Given the description of an element on the screen output the (x, y) to click on. 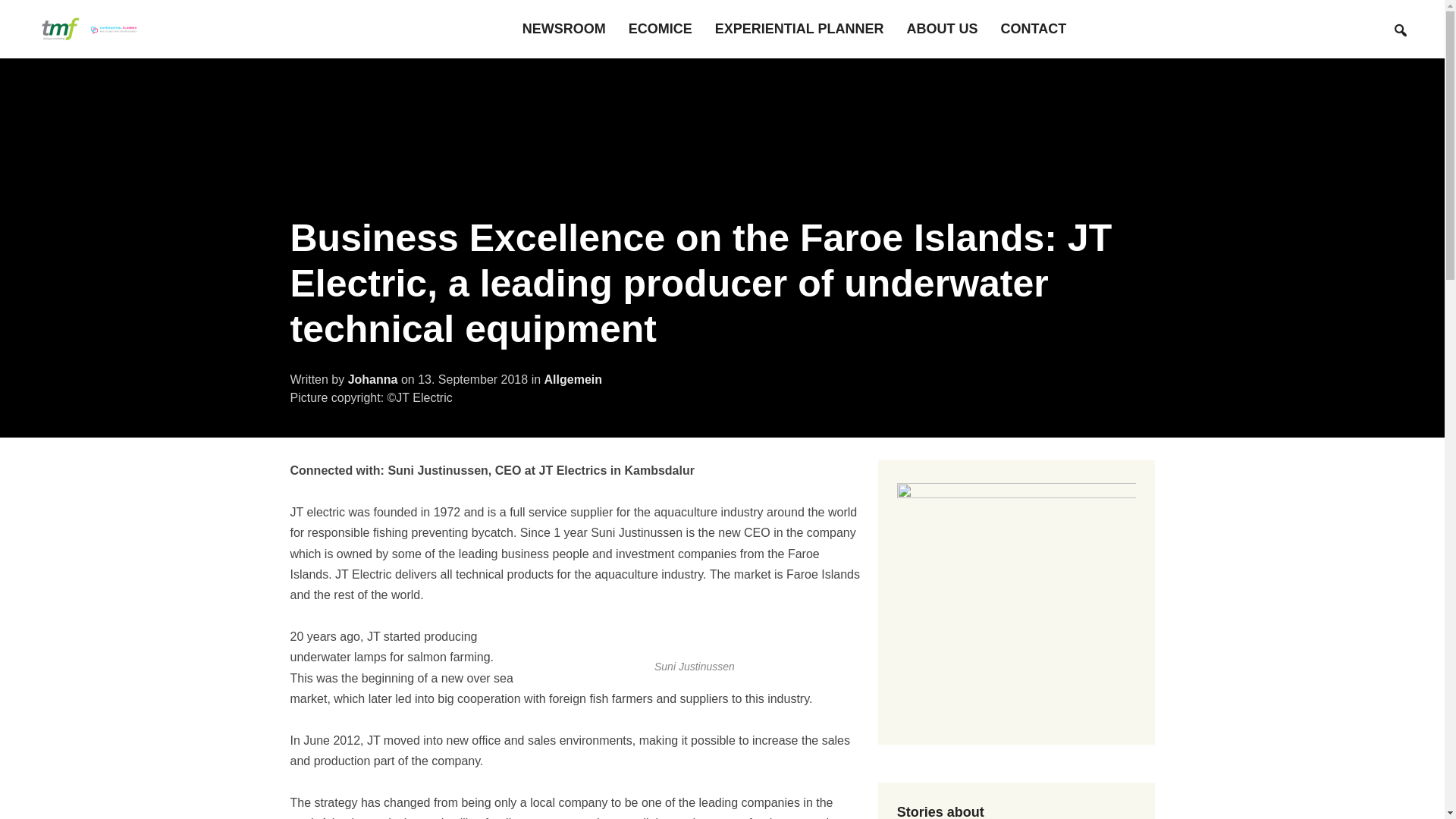
EXPERIENTIAL PLANNER (798, 29)
Posts by Johanna (372, 379)
CONTACT (1034, 29)
Johanna (372, 379)
ABOUT US (942, 29)
Allgemein (573, 379)
Search (1400, 30)
NEWSROOM (563, 29)
ECOMICE (660, 29)
